Given the description of an element on the screen output the (x, y) to click on. 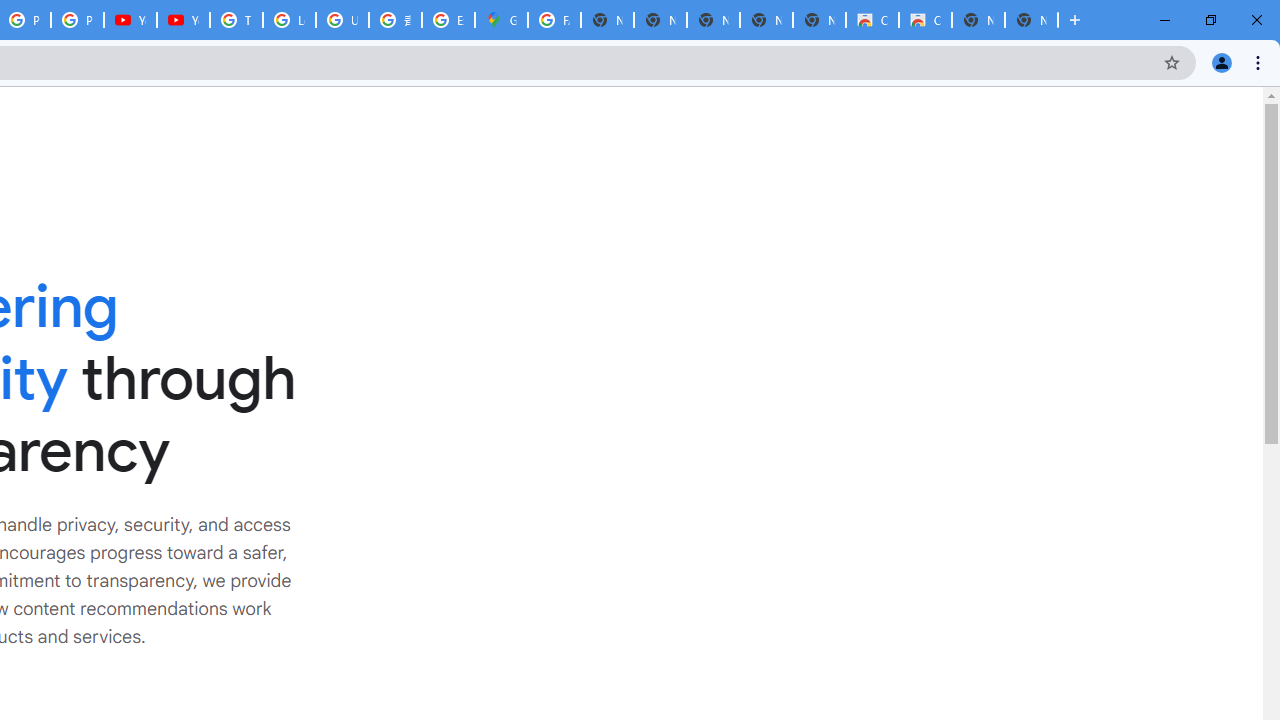
YouTube (130, 20)
Classic Blue - Chrome Web Store (872, 20)
Privacy Checkup (77, 20)
Google Maps (501, 20)
Tips & tricks for Chrome - Google Chrome Help (235, 20)
